Given the description of an element on the screen output the (x, y) to click on. 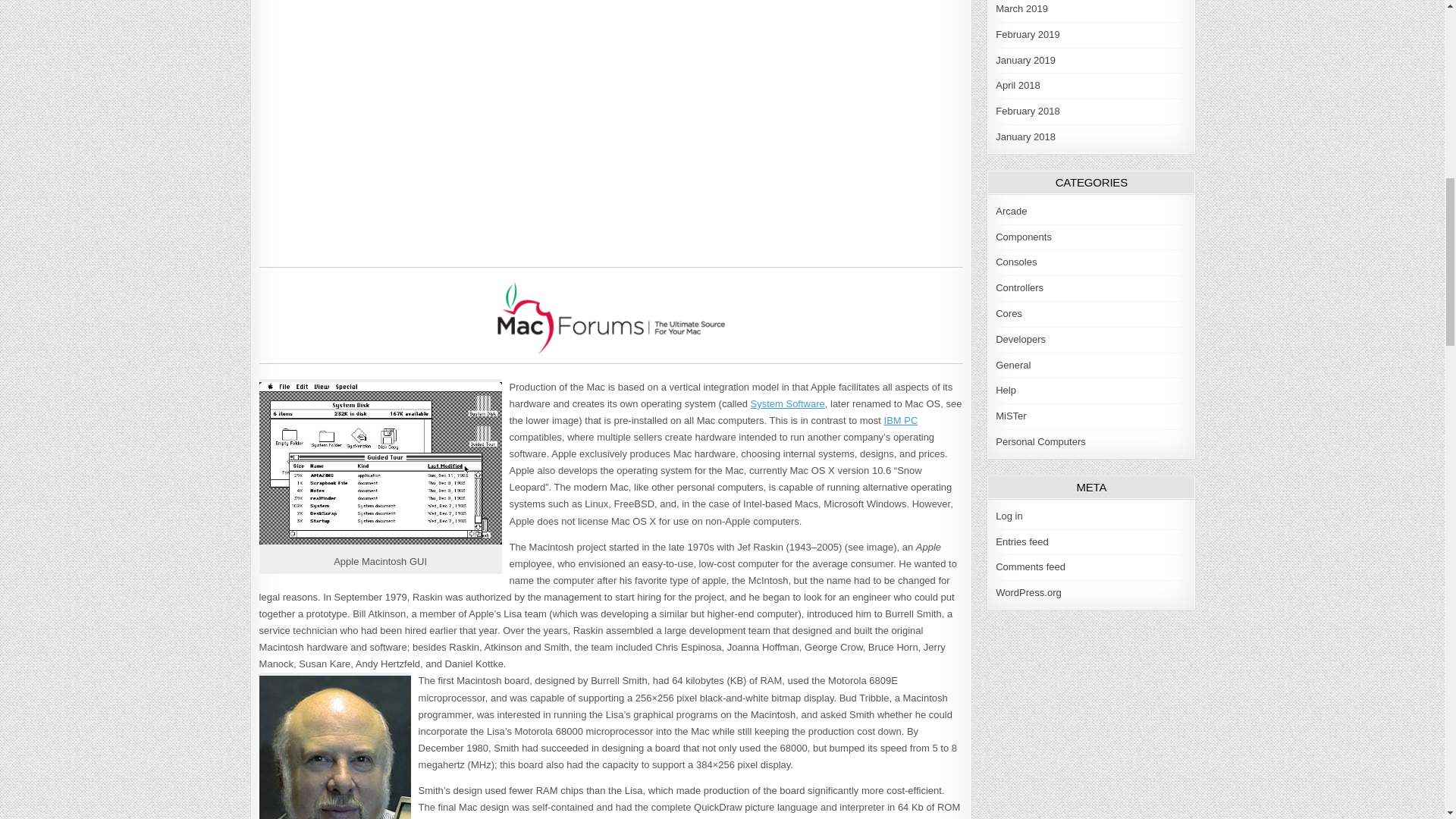
IBM PC (900, 419)
System Software (788, 403)
Help and tutorials (1005, 389)
